Given the description of an element on the screen output the (x, y) to click on. 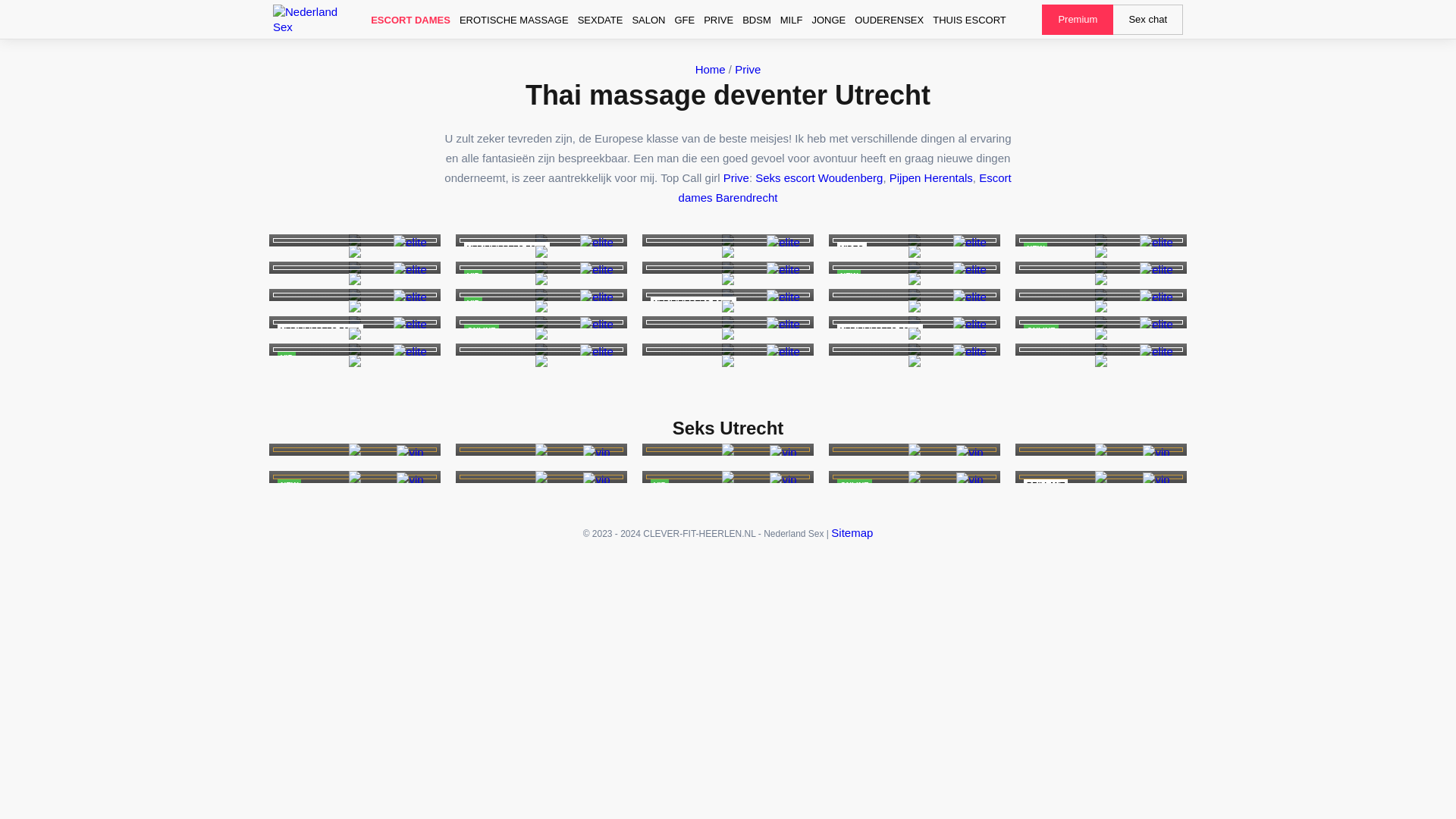
VIP (541, 267)
ESCORT DAMES (410, 19)
EROTISCHE MASSAGE (541, 240)
VERIFIZIERTES FOTO (514, 19)
VERIFIZIERTES FOTO (727, 295)
Prive (355, 322)
VIDEO (747, 69)
NEW (914, 240)
SEXDATE (914, 267)
Seks escort Woudenberg (600, 19)
VIP (818, 177)
Pijpen Herentals (541, 295)
Home (930, 177)
Escort dames Barendrecht (710, 69)
